Given the description of an element on the screen output the (x, y) to click on. 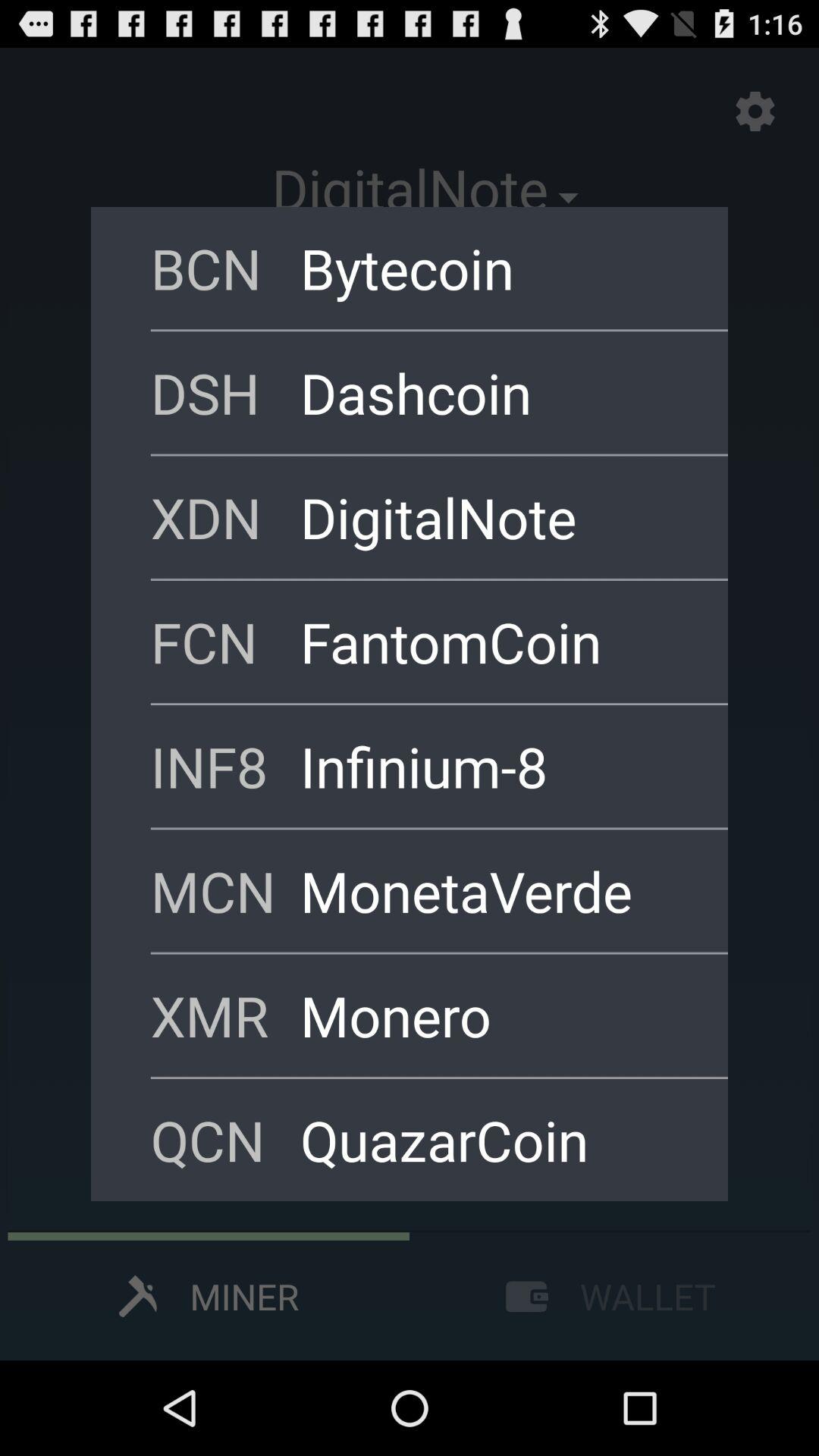
open item below the fcn item (494, 766)
